Given the description of an element on the screen output the (x, y) to click on. 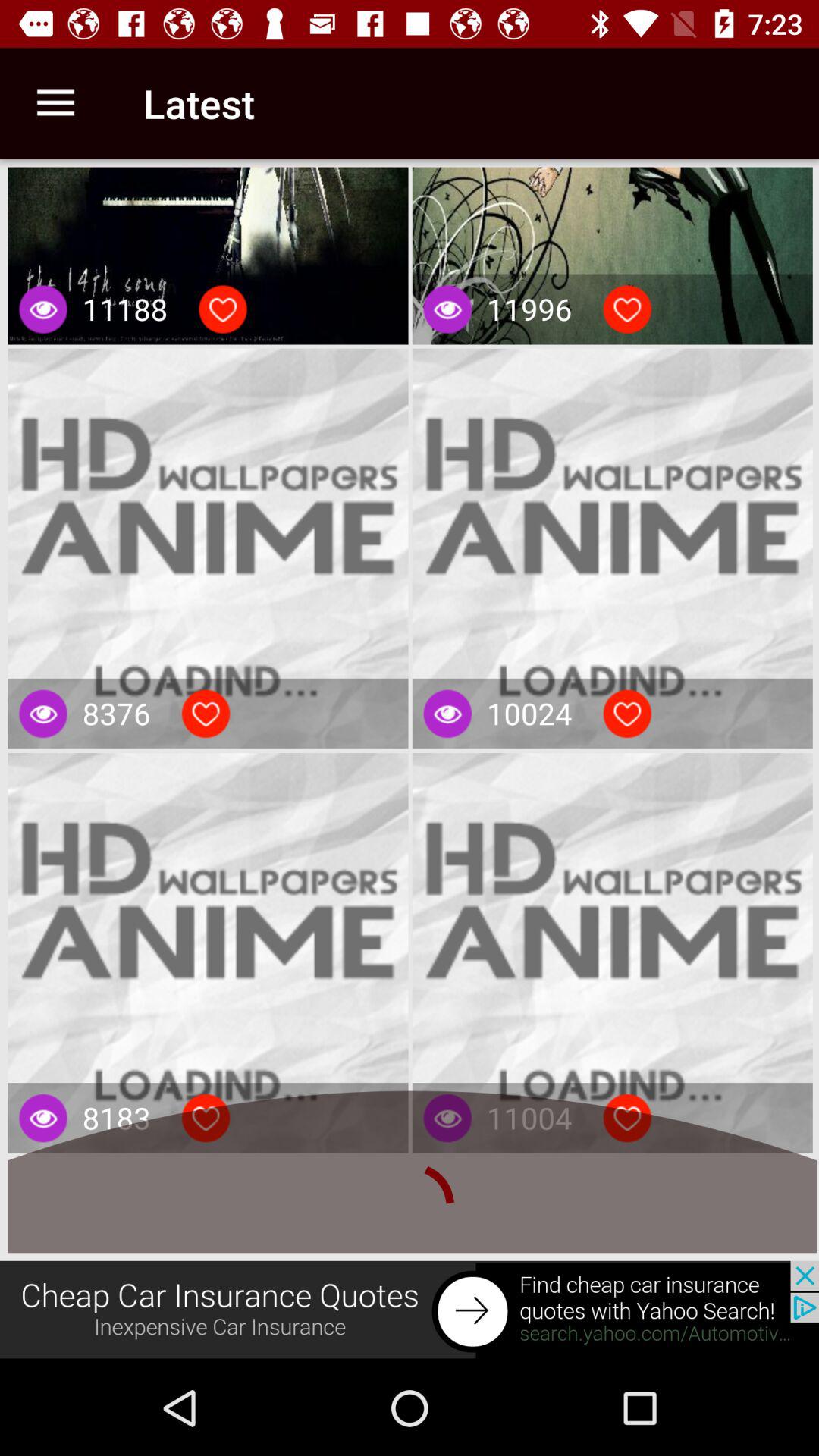
like this (627, 309)
